Given the description of an element on the screen output the (x, y) to click on. 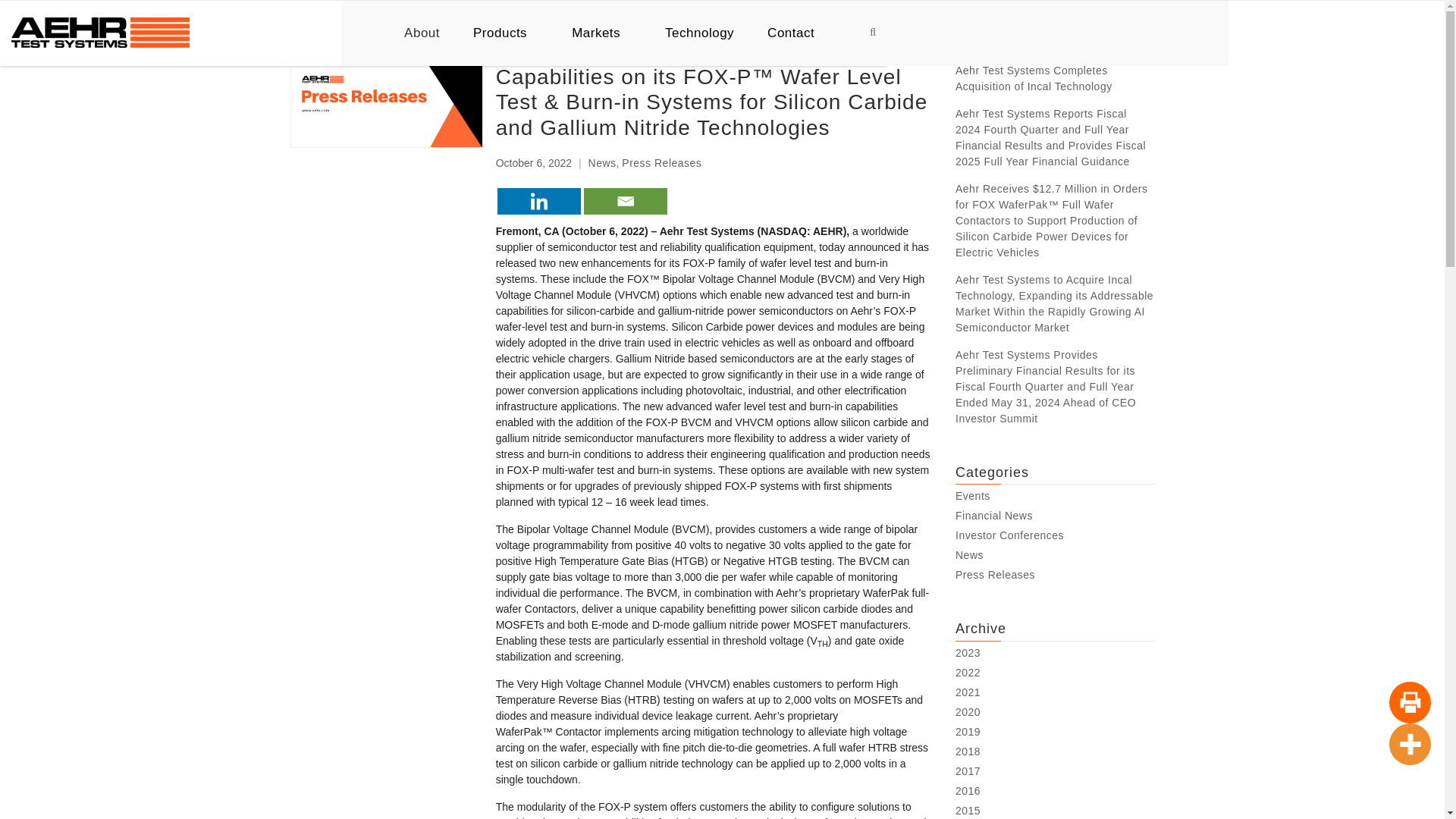
About (422, 33)
News (601, 162)
Products (505, 33)
Products (505, 33)
Contact (796, 33)
Technology (699, 33)
About (422, 33)
Markets (601, 33)
Press Releases (661, 162)
